Given the description of an element on the screen output the (x, y) to click on. 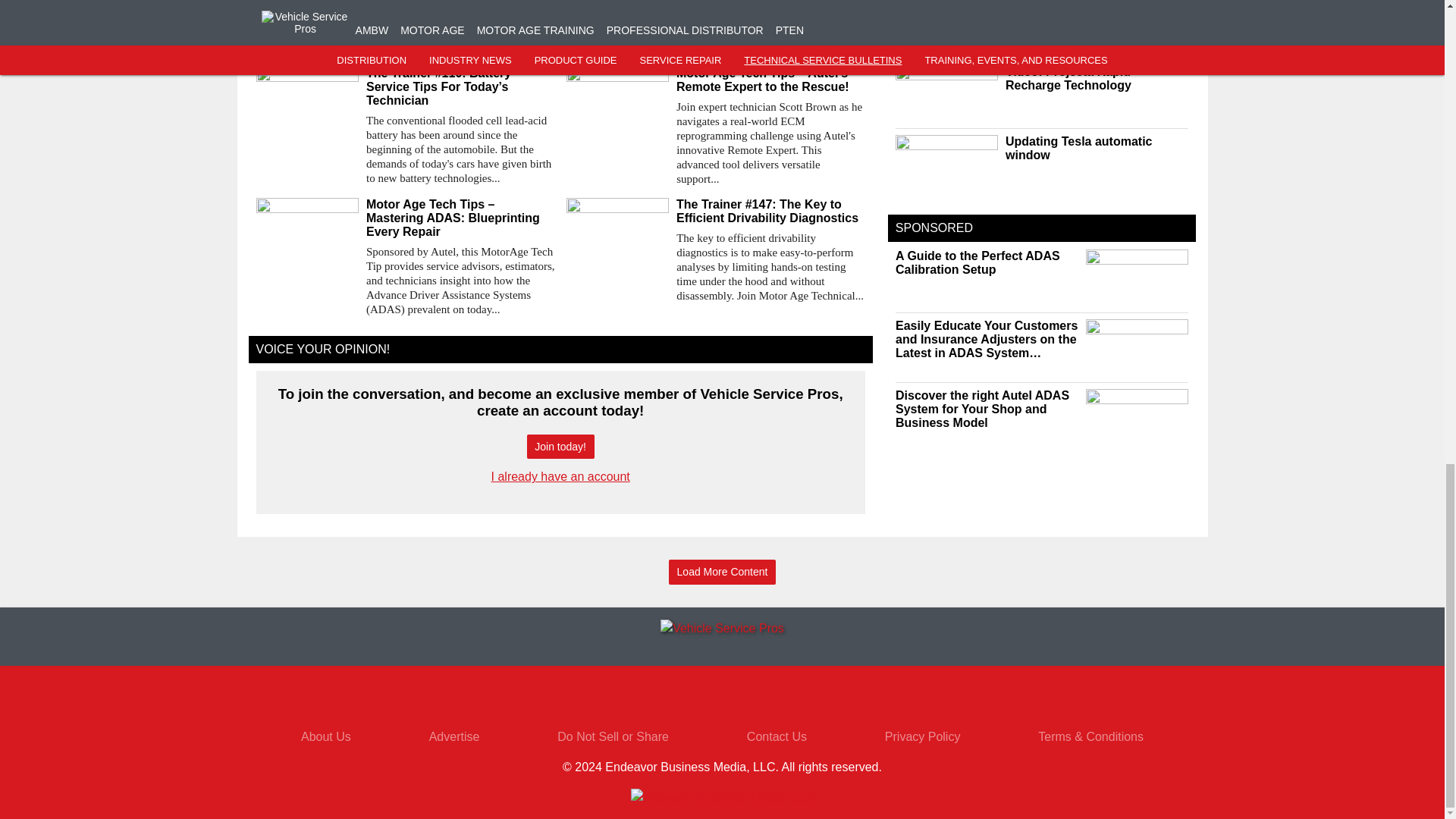
Stones Fool YAW Sensor (715, 6)
Join today! (560, 446)
I already have an account (561, 476)
